Given the description of an element on the screen output the (x, y) to click on. 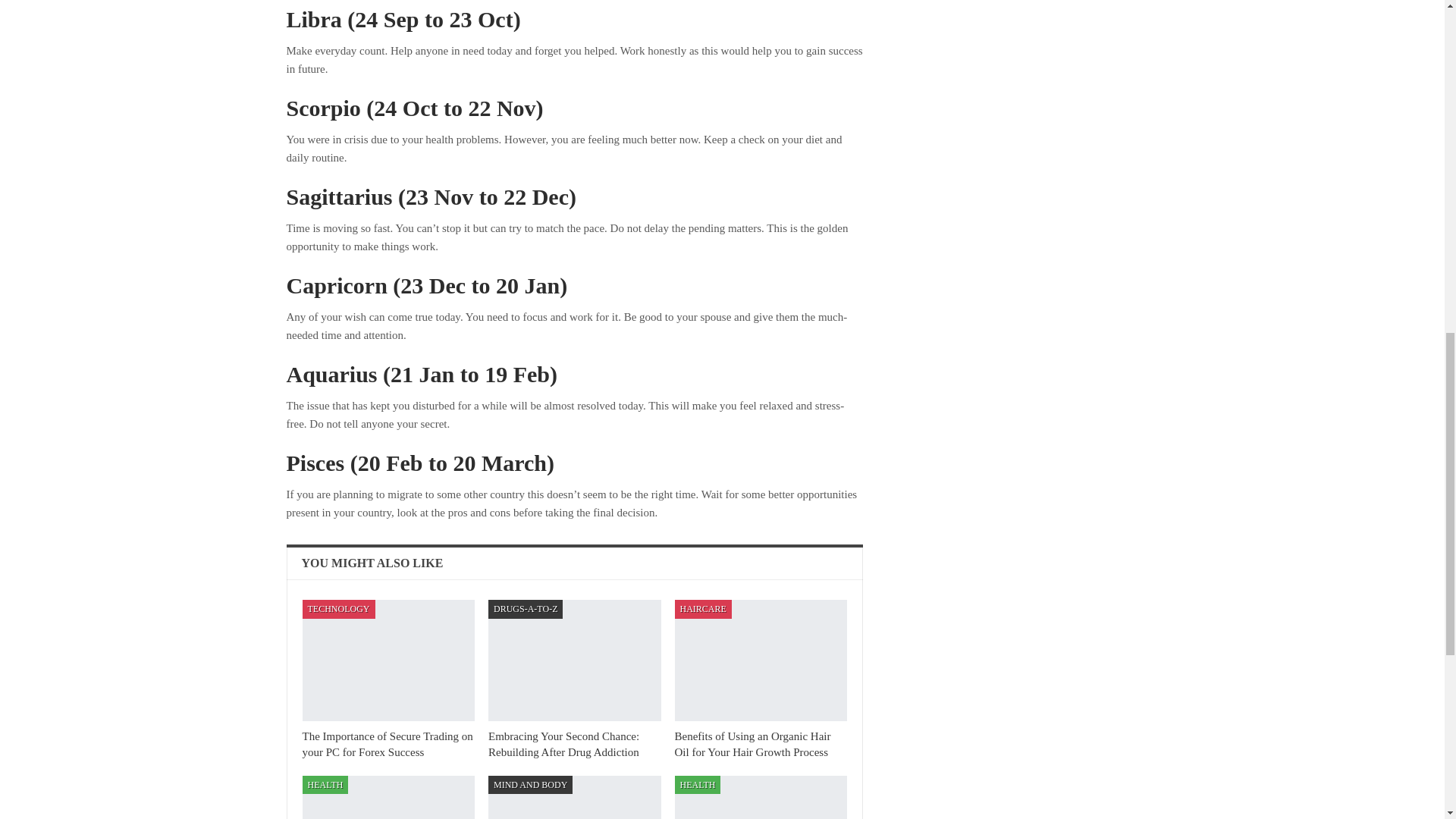
How To Overcome Addiction and Start Fresh in Life (761, 797)
